Given the description of an element on the screen output the (x, y) to click on. 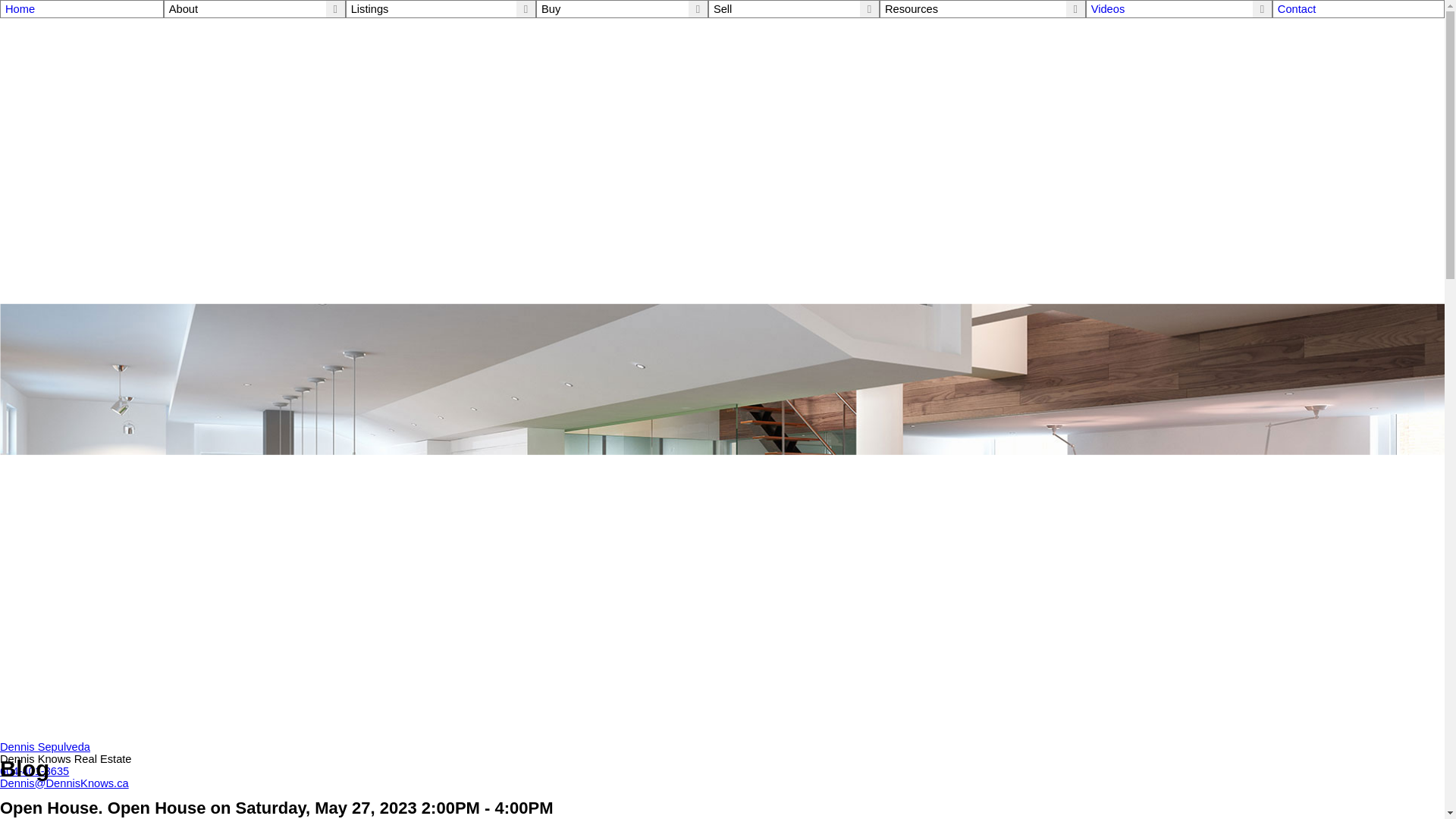
Contact (1358, 9)
Dennis Sepulveda (45, 746)
Listings (369, 9)
Home (81, 9)
Resources (911, 9)
About (183, 9)
Videos (1107, 9)
Sell (722, 9)
604-401-3635 (34, 770)
Buy (550, 9)
